Given the description of an element on the screen output the (x, y) to click on. 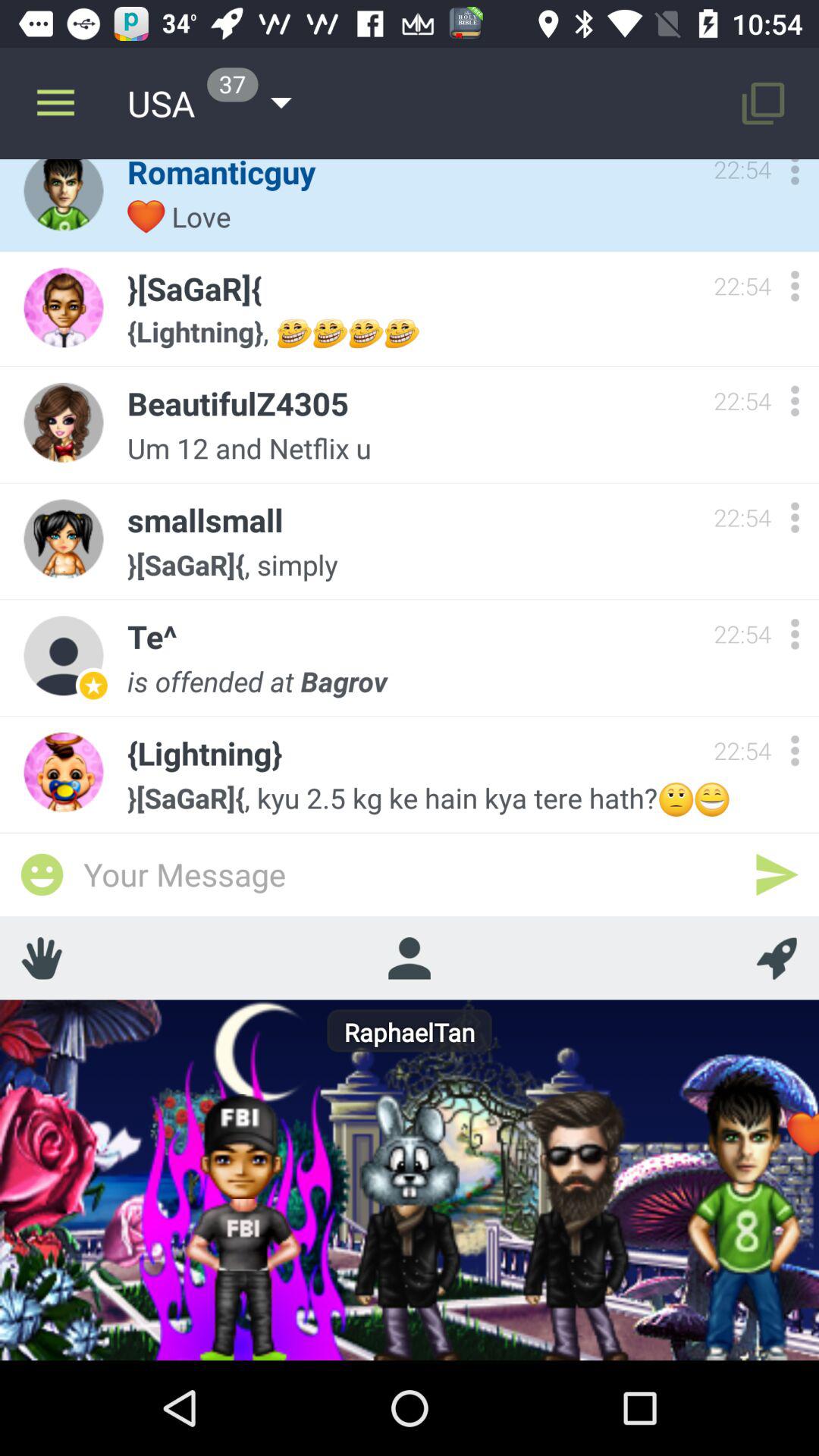
more options (795, 750)
